Given the description of an element on the screen output the (x, y) to click on. 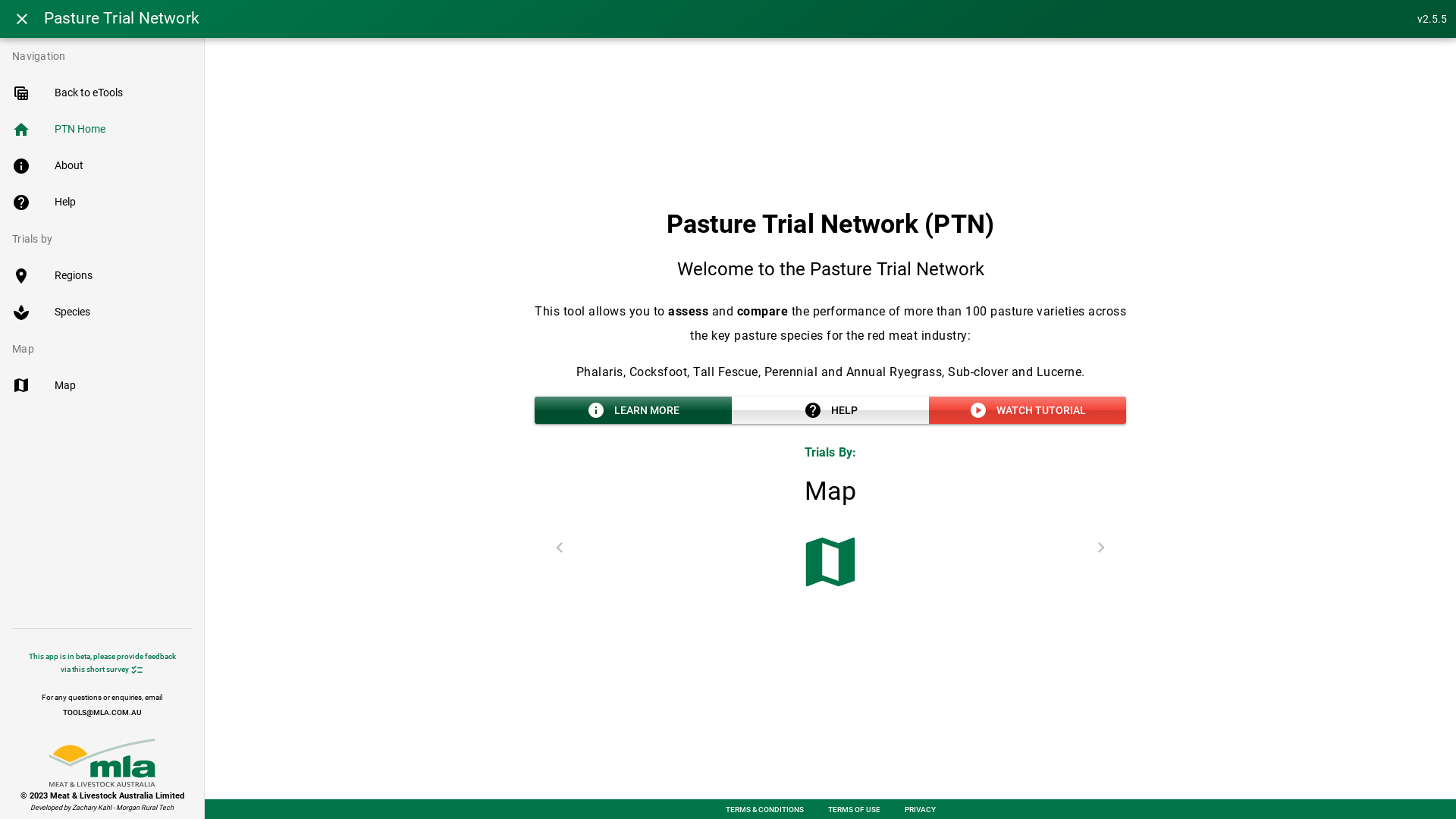
help
Help Element type: text (101, 202)
play_circle
WATCH TUTORIAL Element type: text (1027, 409)
chevron_right Element type: text (1100, 547)
chevron_left Element type: text (559, 547)
map
Map Element type: text (101, 385)
table_view
Back to eTools Element type: text (101, 93)
info
LEARN MORE Element type: text (632, 409)
home
PTN Home Element type: text (101, 129)
info
About Element type: text (101, 165)
spa
Species Element type: text (101, 312)
TOOLS@MLA.COM.AU Element type: text (101, 712)
close Element type: text (21, 18)
map Element type: text (830, 562)
help
HELP Element type: text (829, 409)
place
Regions Element type: text (101, 275)
